Given the description of an element on the screen output the (x, y) to click on. 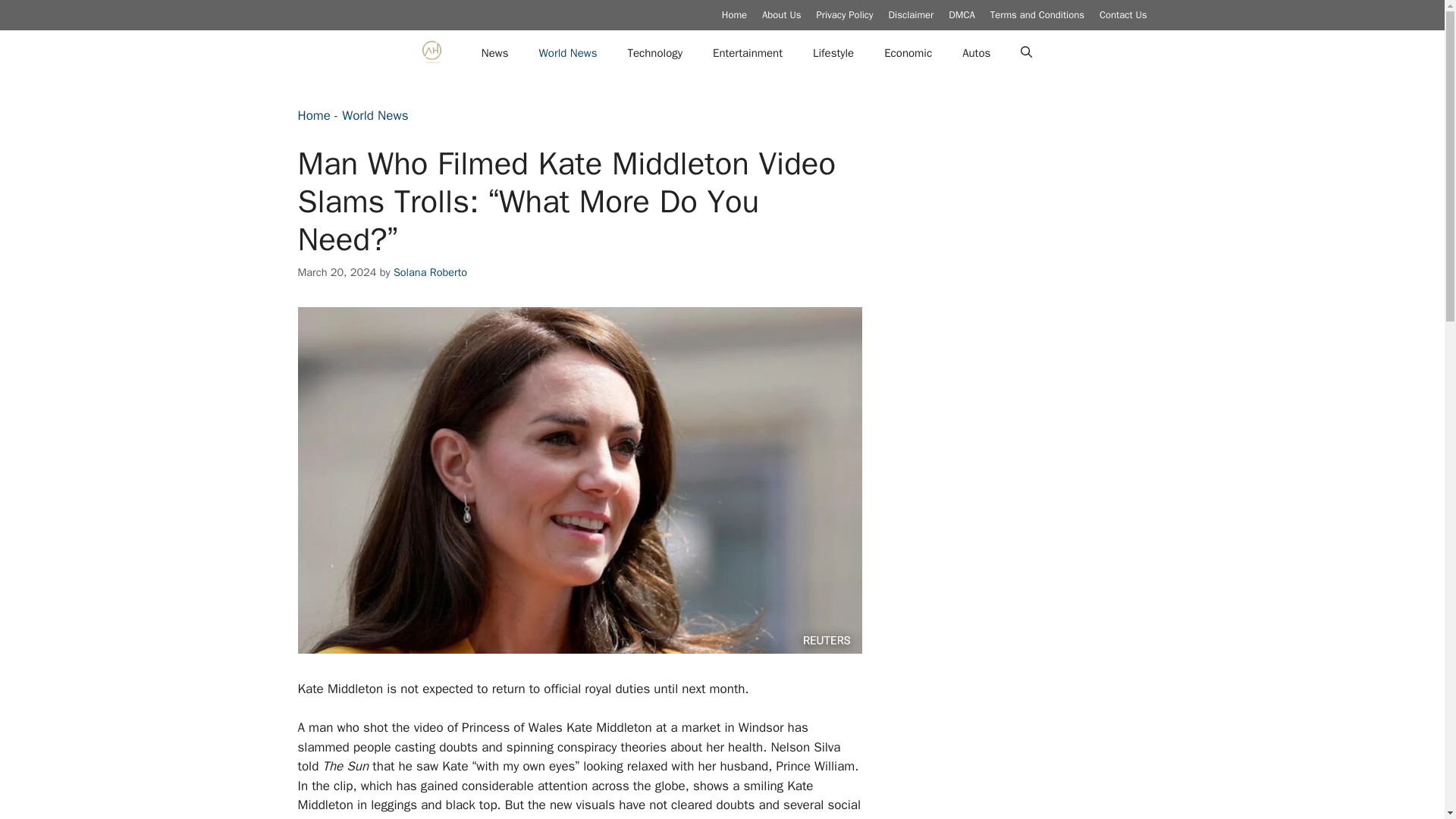
Home (734, 14)
Autos (976, 53)
Solana Roberto (430, 272)
Contact Us (1123, 14)
Disclaimer (911, 14)
News (494, 53)
ARIENHOST (431, 53)
DMCA (962, 14)
Terms and Conditions (1037, 14)
View all posts by Solana Roberto (430, 272)
Technology (655, 53)
World News (566, 53)
Lifestyle (833, 53)
World News (374, 115)
Home (313, 115)
